Given the description of an element on the screen output the (x, y) to click on. 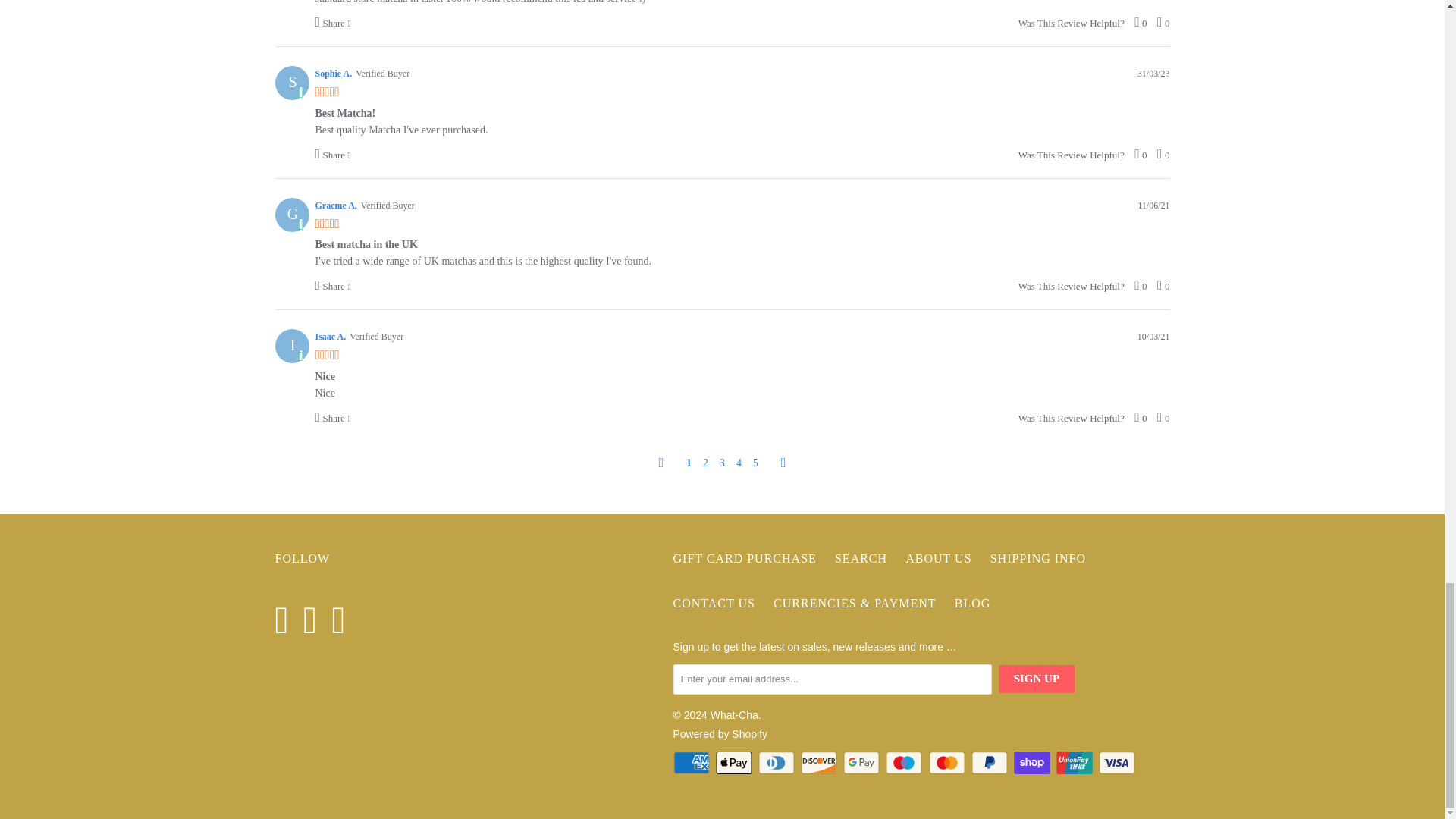
Sign Up (1036, 678)
